Given the description of an element on the screen output the (x, y) to click on. 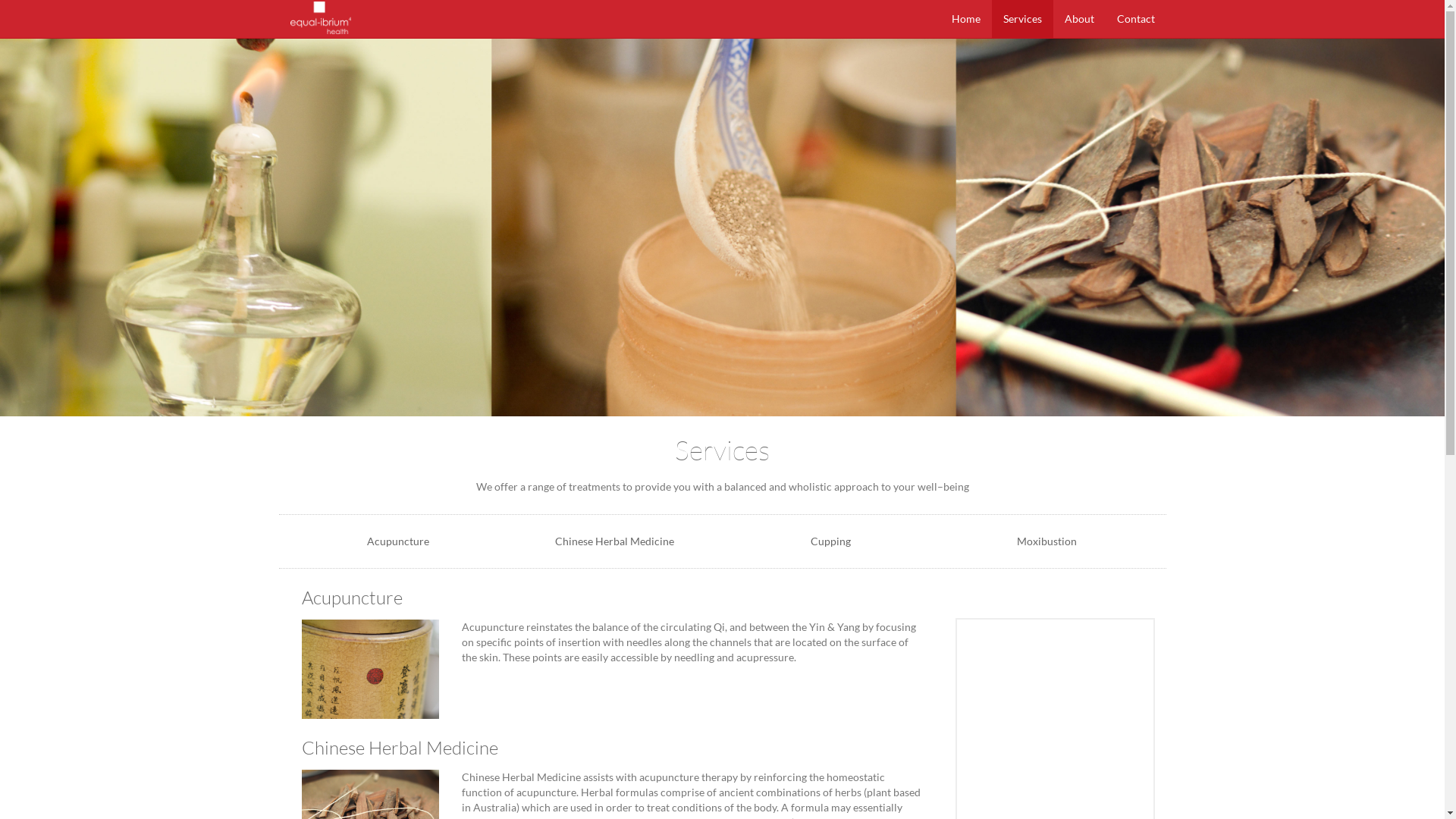
About Element type: text (1078, 18)
Chinese Herbal Medicine Element type: text (614, 540)
Moxibustion Element type: text (1046, 540)
Acupuncture Element type: text (398, 540)
Services Element type: text (1022, 18)
Home Element type: text (965, 18)
Contact Element type: text (1135, 18)
Acupunture Element type: hover (370, 669)
Equal-ibrium 4 Health Services Element type: hover (722, 227)
Cupping Element type: text (829, 540)
